Given the description of an element on the screen output the (x, y) to click on. 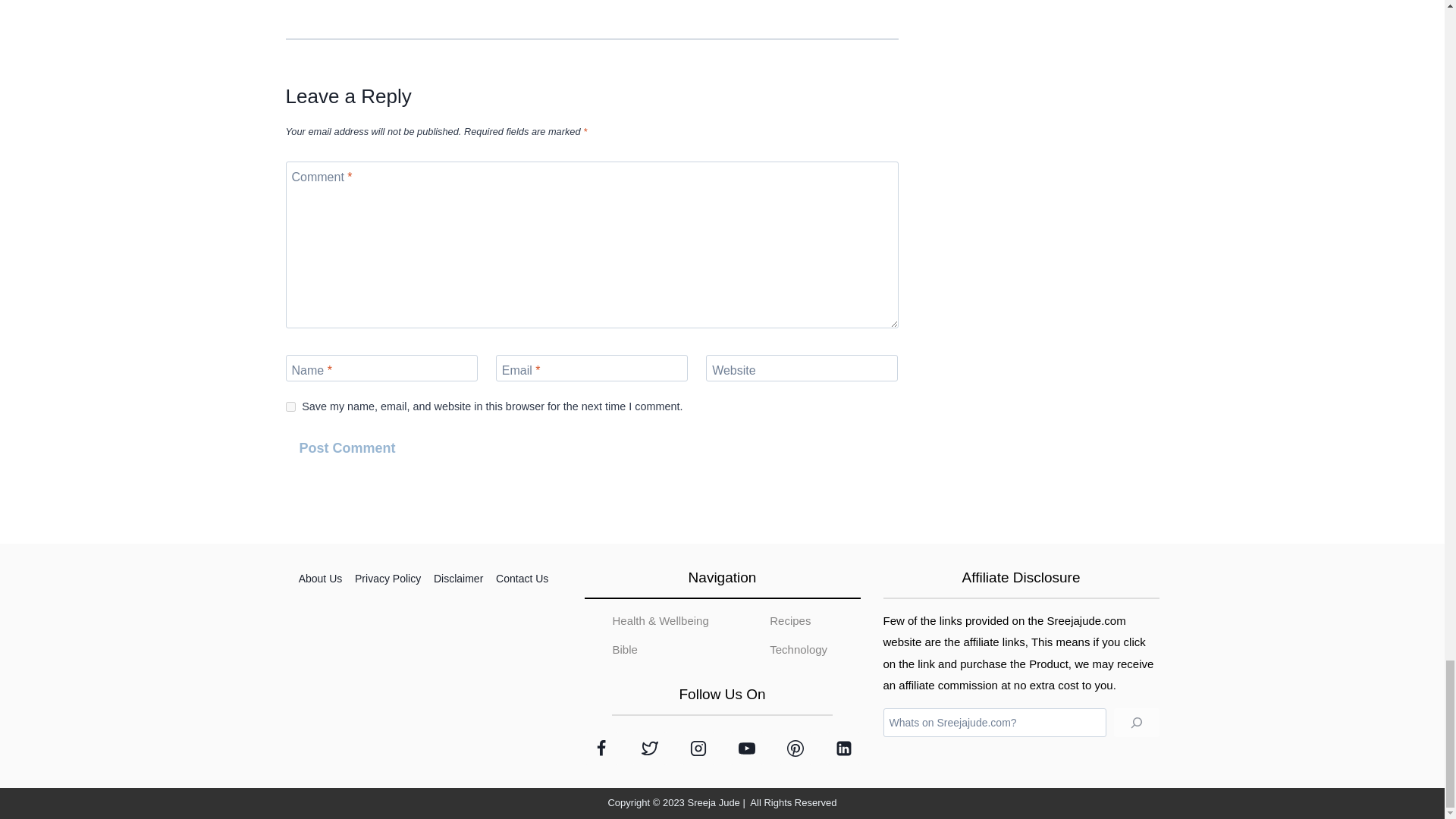
yes (290, 406)
Post Comment (347, 448)
